Given the description of an element on the screen output the (x, y) to click on. 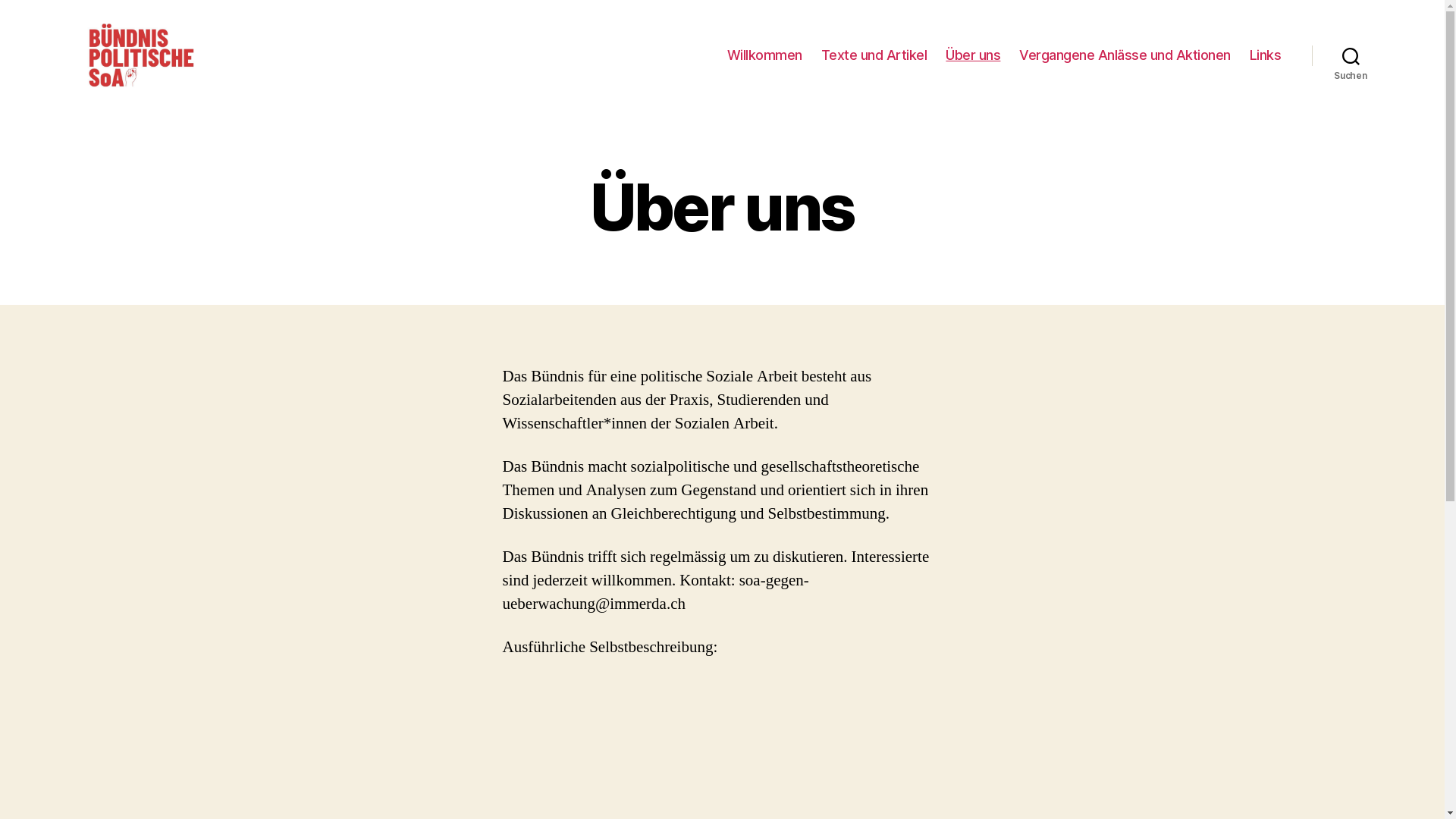
Links Element type: text (1265, 55)
Willkommen Element type: text (764, 55)
Suchen Element type: text (1350, 55)
Texte und Artikel Element type: text (874, 55)
